Given the description of an element on the screen output the (x, y) to click on. 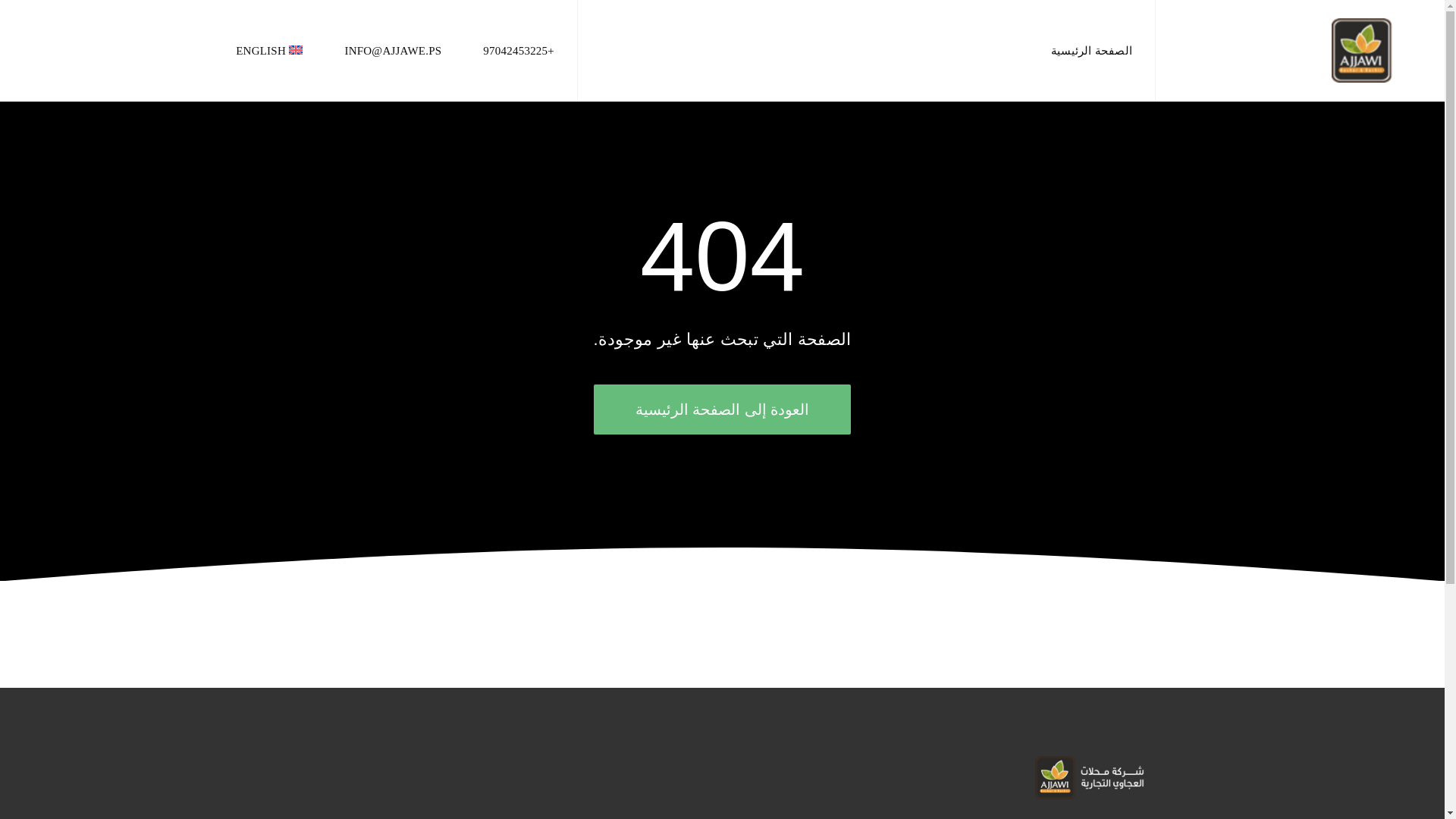
logo (1089, 777)
ENGLISH (268, 50)
English (268, 50)
